Given the description of an element on the screen output the (x, y) to click on. 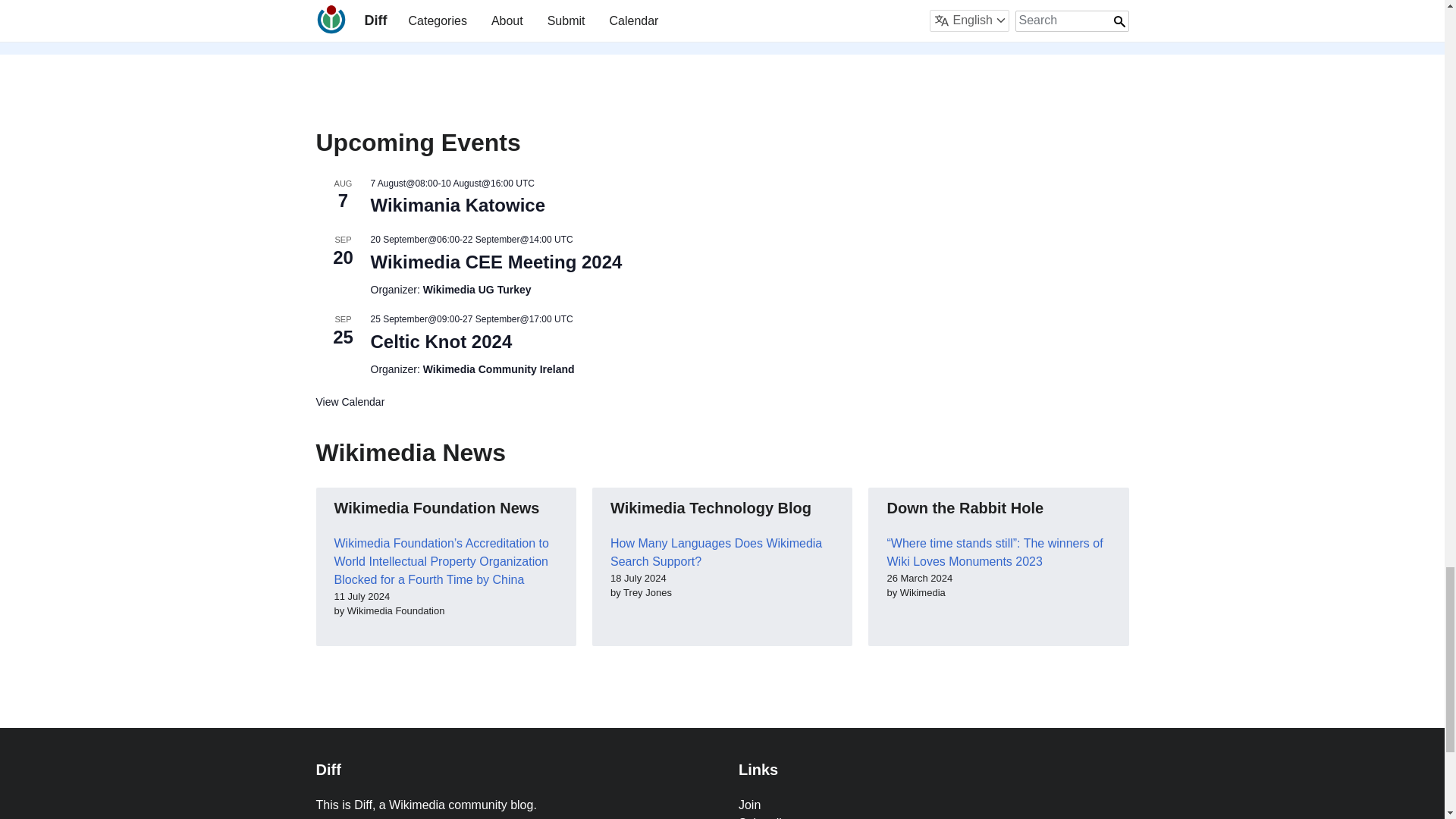
Wikimedia UG Turkey (477, 289)
Celtic Knot 2024 (440, 341)
Wikimedia CEE Meeting 2024 (495, 261)
Wikimania Katowice (456, 205)
Subscribe (771, 6)
